Given the description of an element on the screen output the (x, y) to click on. 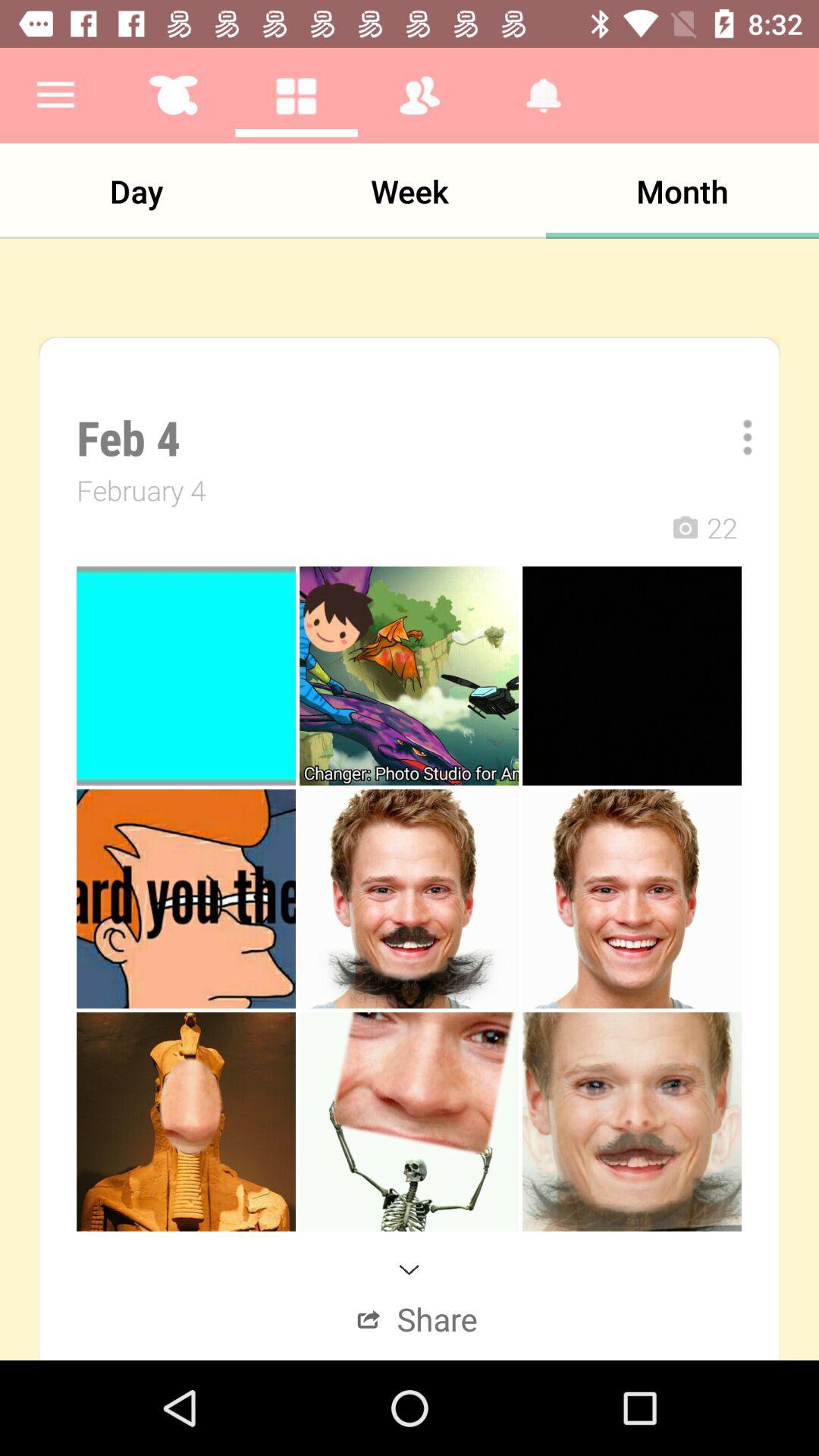
select the item to the left of the month icon (409, 190)
